Given the description of an element on the screen output the (x, y) to click on. 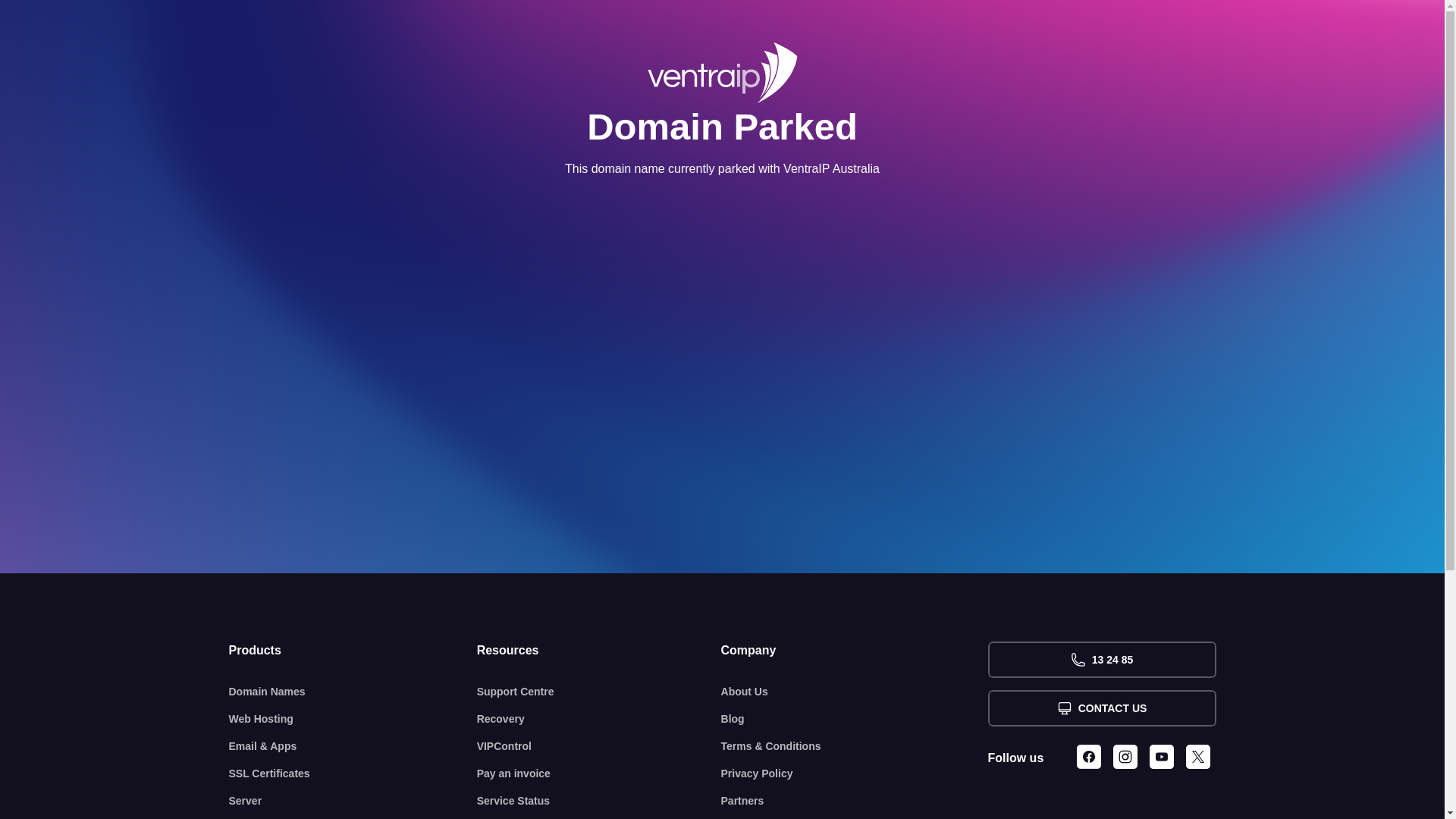
Web Hosting Element type: text (352, 718)
Support Centre Element type: text (598, 691)
Blog Element type: text (854, 718)
About Us Element type: text (854, 691)
Domain Names Element type: text (352, 691)
Privacy Policy Element type: text (854, 773)
Terms & Conditions Element type: text (854, 745)
Server Element type: text (352, 800)
Partners Element type: text (854, 800)
SSL Certificates Element type: text (352, 773)
13 24 85 Element type: text (1101, 659)
Email & Apps Element type: text (352, 745)
VIPControl Element type: text (598, 745)
CONTACT US Element type: text (1101, 708)
Pay an invoice Element type: text (598, 773)
Service Status Element type: text (598, 800)
Recovery Element type: text (598, 718)
